Given the description of an element on the screen output the (x, y) to click on. 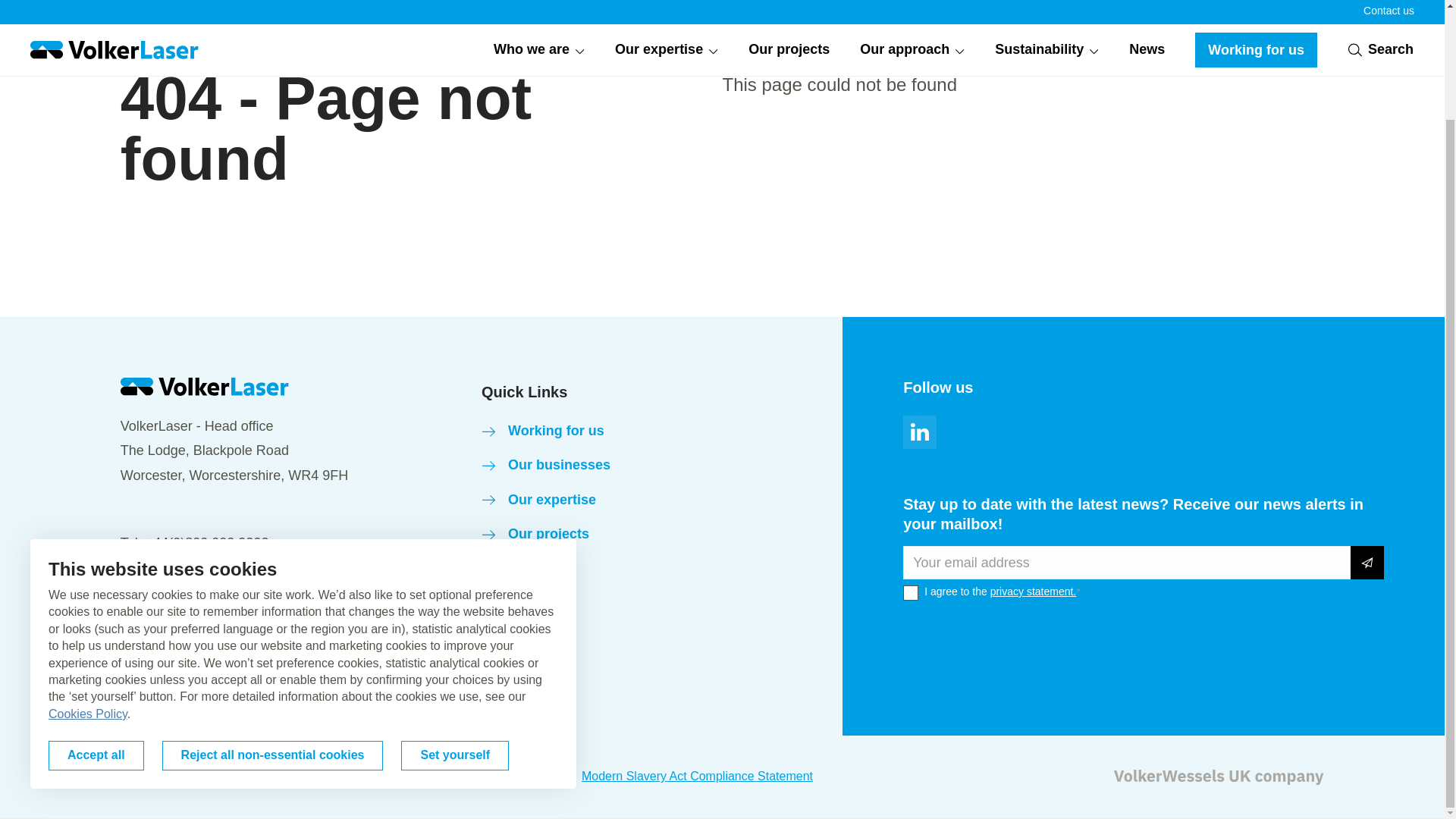
Submit (1367, 562)
